Given the description of an element on the screen output the (x, y) to click on. 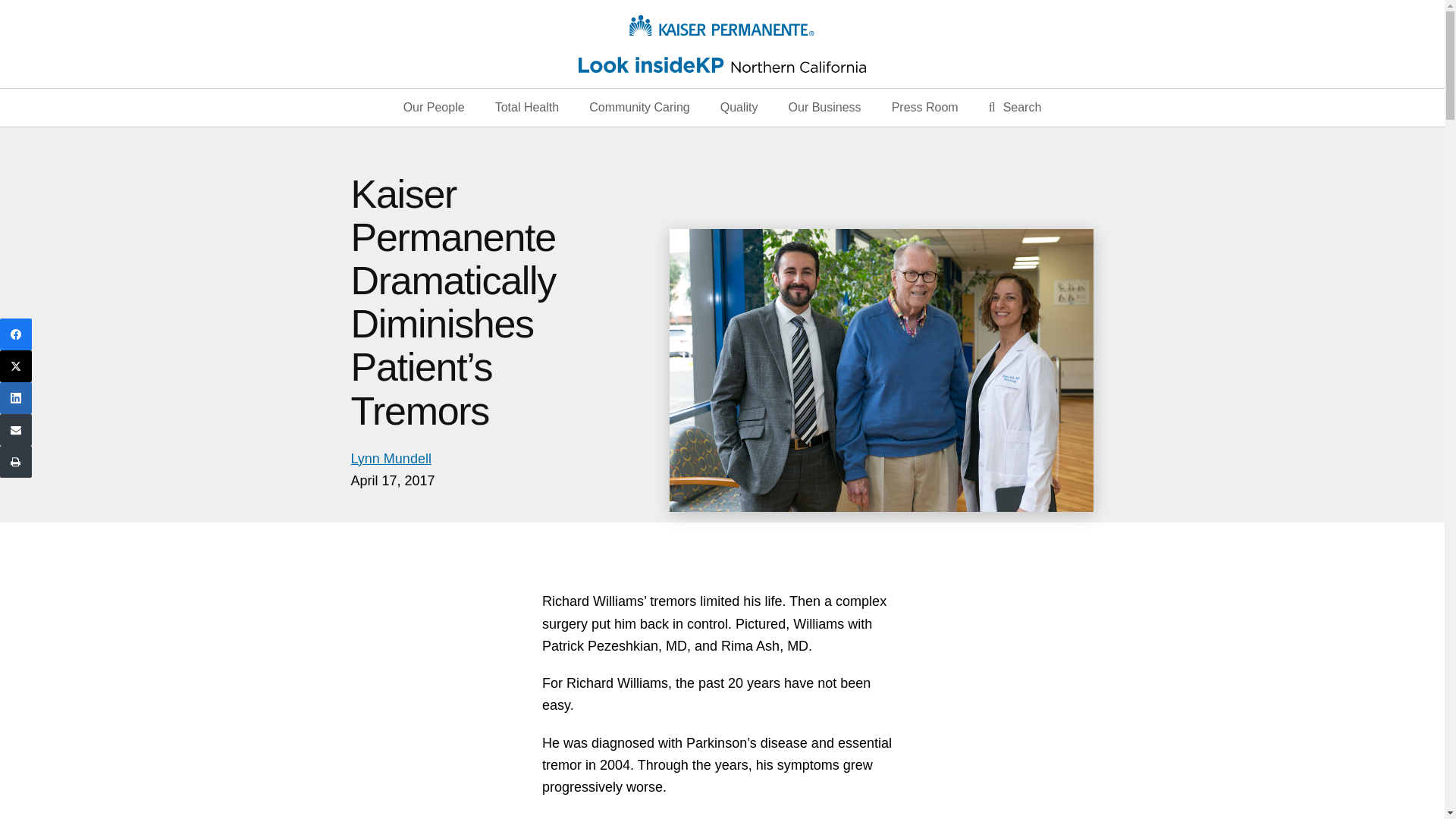
Press Room (924, 107)
Community Caring (639, 107)
Quality (738, 107)
Our Business (824, 107)
Total Health (526, 107)
Search (1014, 107)
Our People (434, 107)
Posts by Lynn Mundell (390, 458)
Lynn Mundell (390, 458)
